Given the description of an element on the screen output the (x, y) to click on. 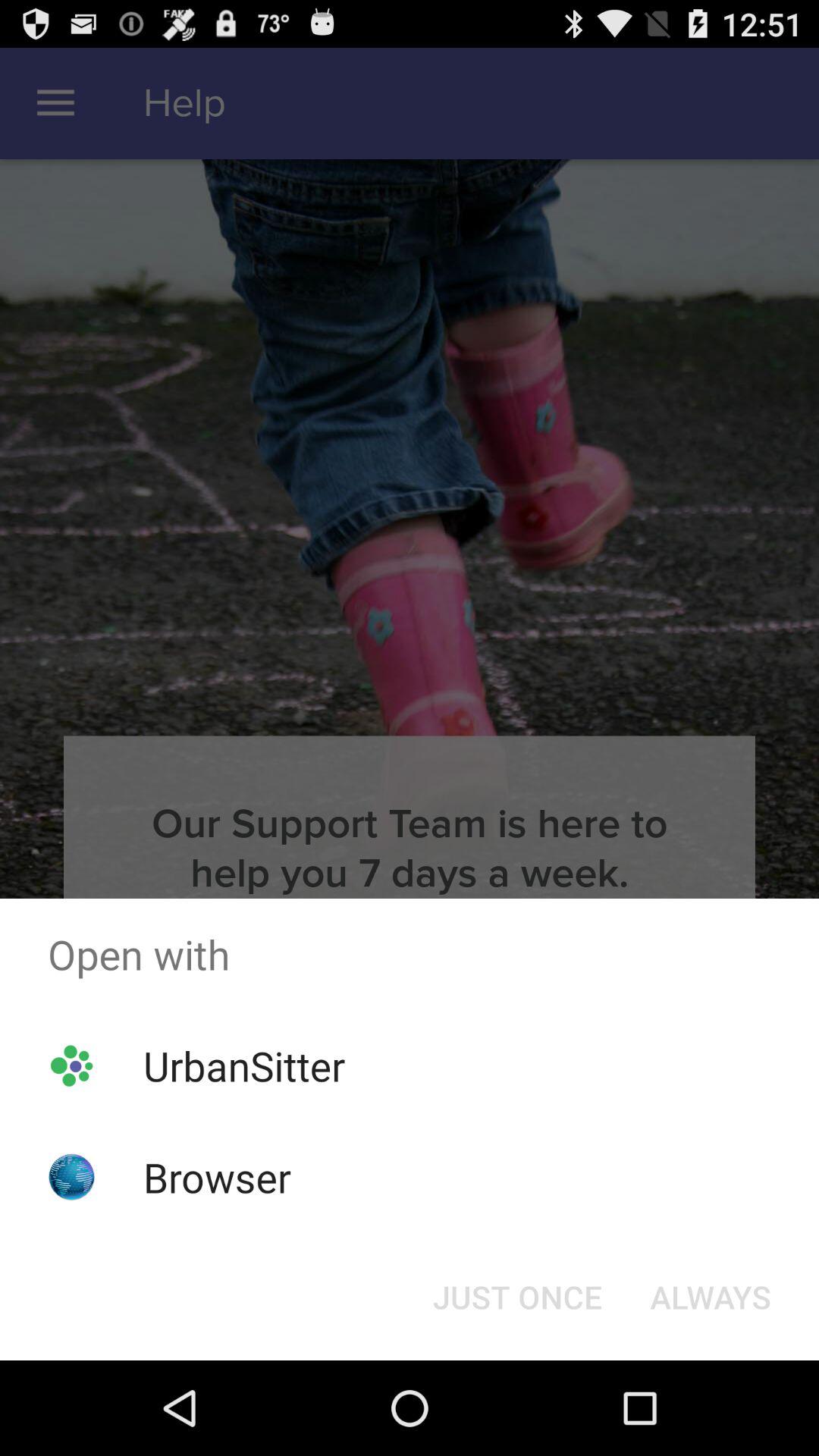
open the app below open with icon (244, 1065)
